Given the description of an element on the screen output the (x, y) to click on. 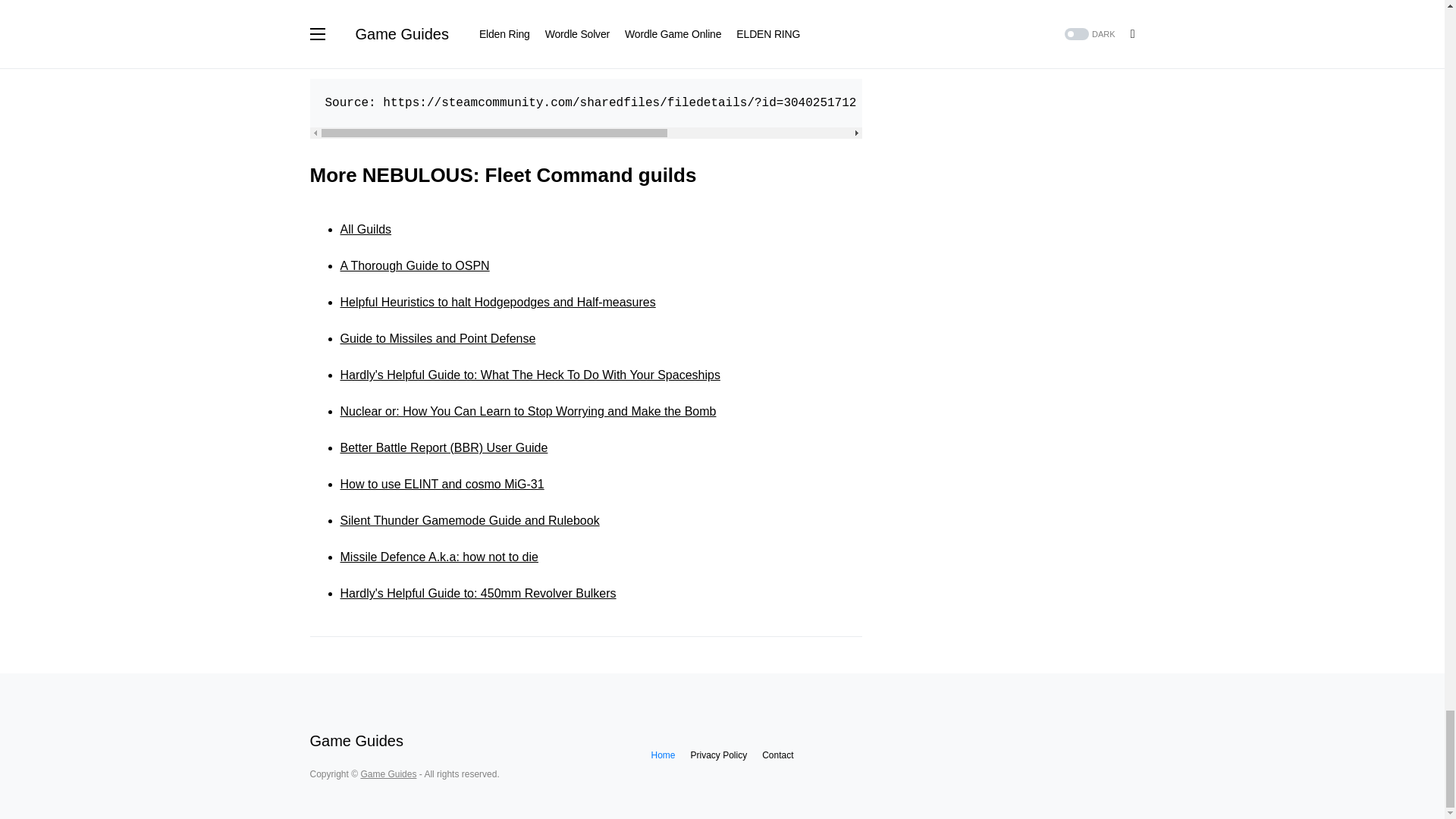
Helpful Heuristics to halt Hodgepodges and Half-measures (497, 301)
A Thorough Guide to OSPN (414, 265)
All guilds NEBULOUS: Fleet Command (365, 228)
Guide to Missiles and Point Defense (437, 337)
